Given the description of an element on the screen output the (x, y) to click on. 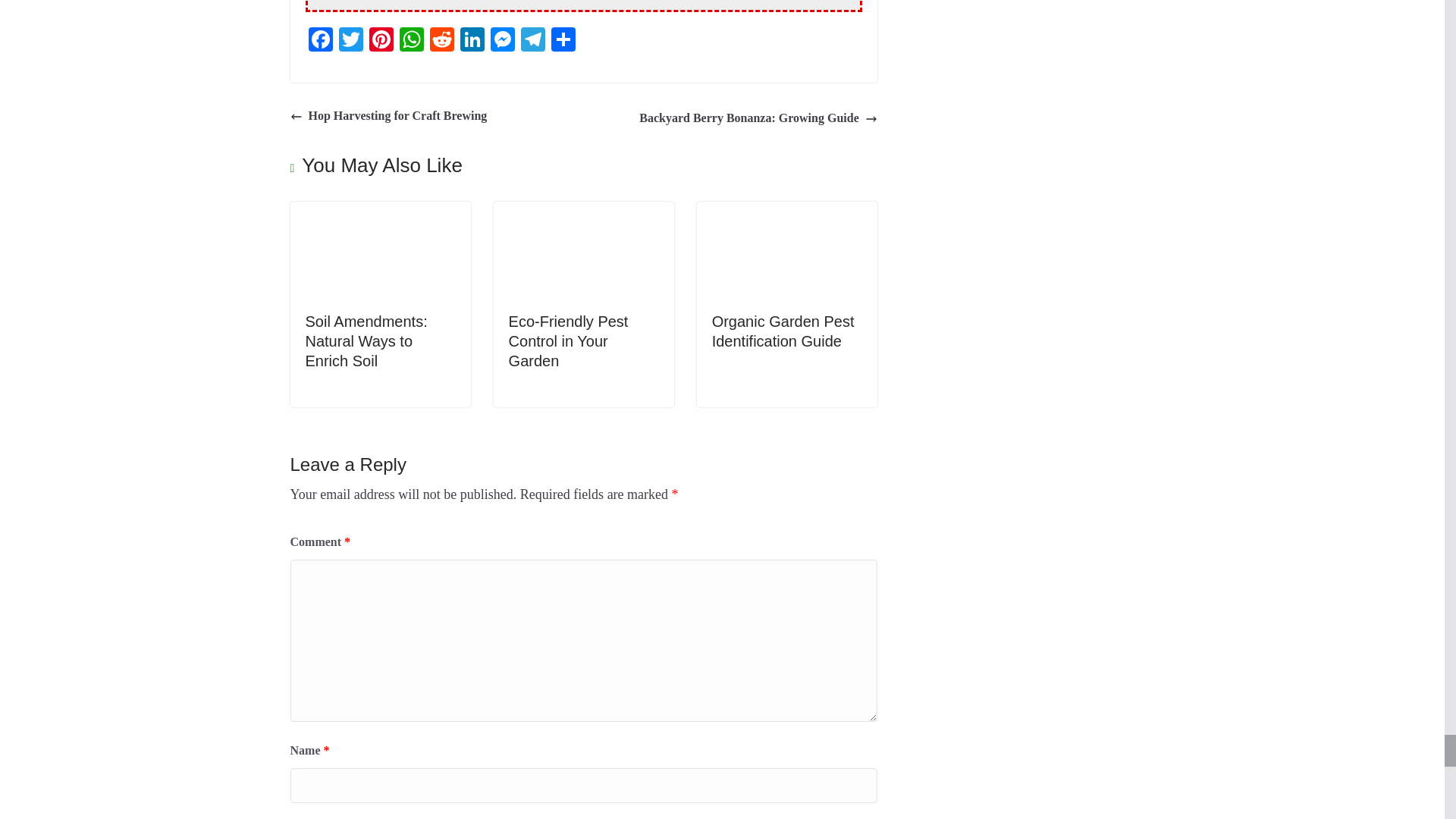
Hop Harvesting for Craft Brewing (387, 116)
Share (562, 41)
WhatsApp (411, 41)
Pinterest (380, 41)
Pinterest (380, 41)
WhatsApp (411, 41)
Telegram (531, 41)
Twitter (349, 41)
Facebook (319, 41)
Facebook (319, 41)
Messenger (501, 41)
Reddit (441, 41)
Twitter (349, 41)
LinkedIn (471, 41)
